Given the description of an element on the screen output the (x, y) to click on. 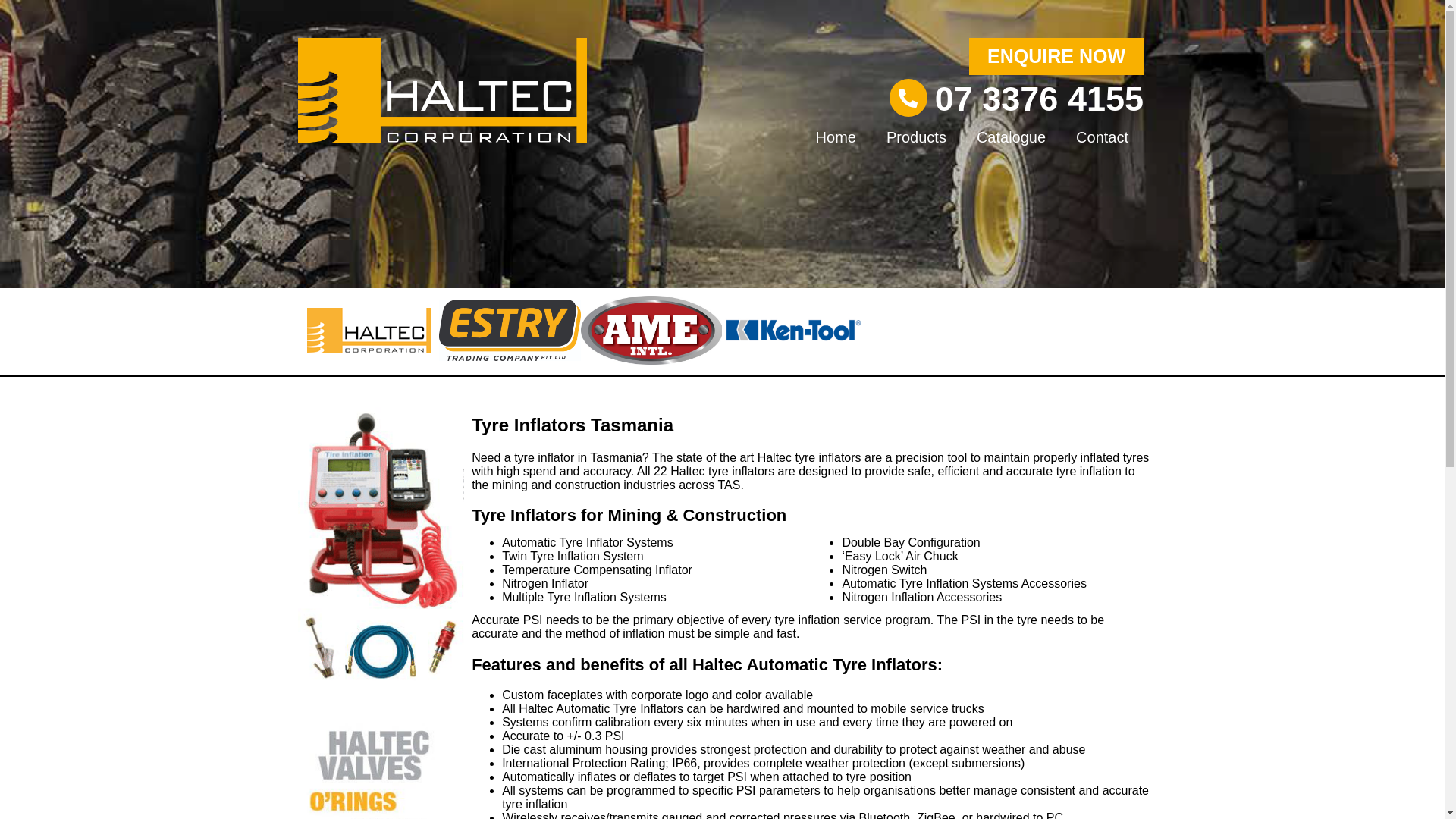
ENQUIRE NOW Element type: text (1056, 56)
Products Element type: text (916, 136)
07 3376 4155 Element type: text (1039, 98)
Home Element type: text (835, 136)
Catalogue Element type: text (1010, 136)
Contact Element type: text (1101, 136)
